Given the description of an element on the screen output the (x, y) to click on. 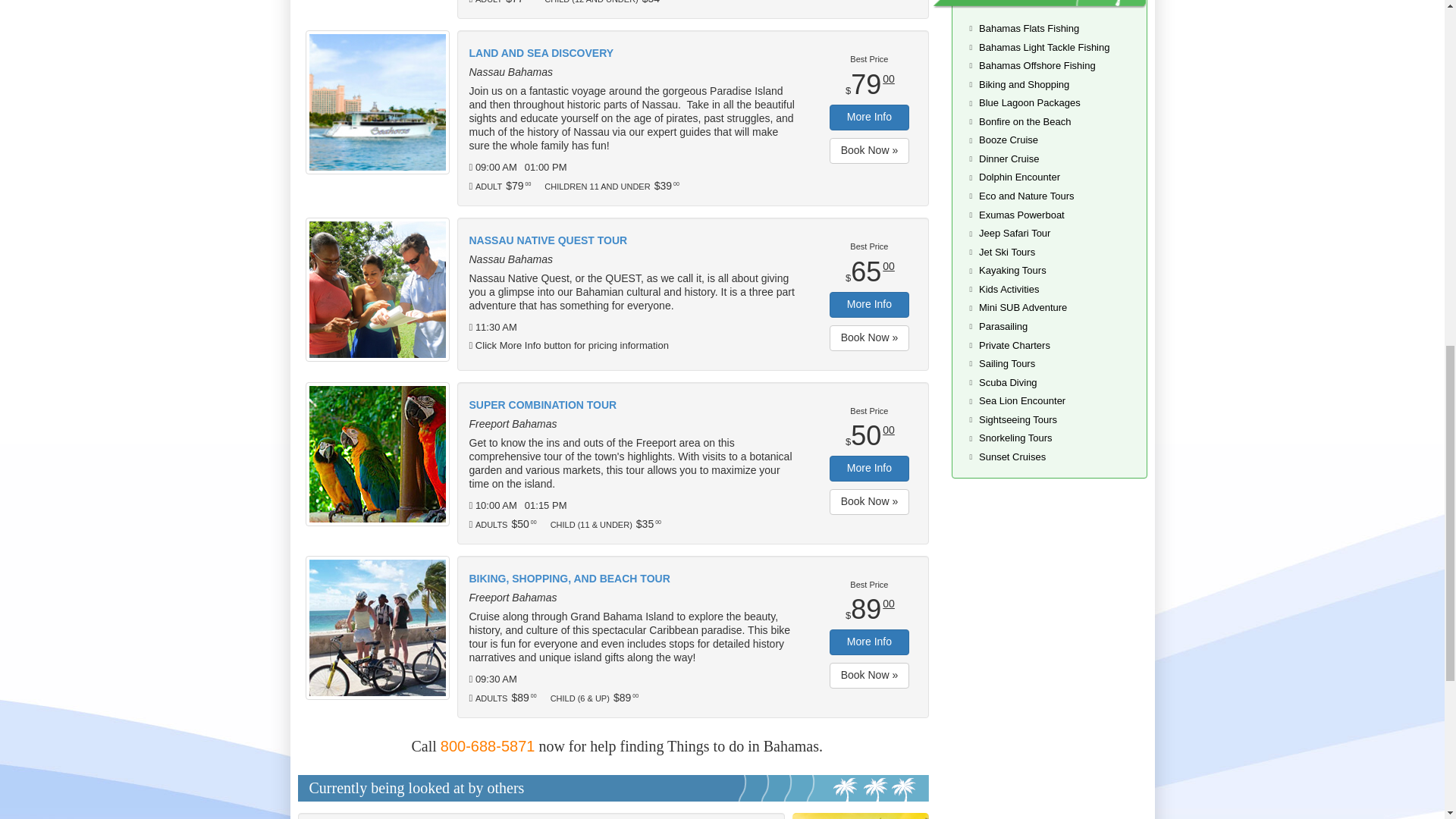
BIKING, SHOPPING, AND BEACH TOUR (632, 579)
Bahamas Offshore Fishing (1037, 65)
More Info (868, 117)
LAND AND SEA DISCOVERY (632, 53)
More Info (868, 304)
Bahamas Light Tackle Fishing (1043, 46)
Bahamas Flats Fishing (1028, 28)
NASSAU NATIVE QUEST TOUR (632, 240)
More Info (868, 468)
SUPER COMBINATION TOUR (632, 405)
More Info (868, 642)
